Given the description of an element on the screen output the (x, y) to click on. 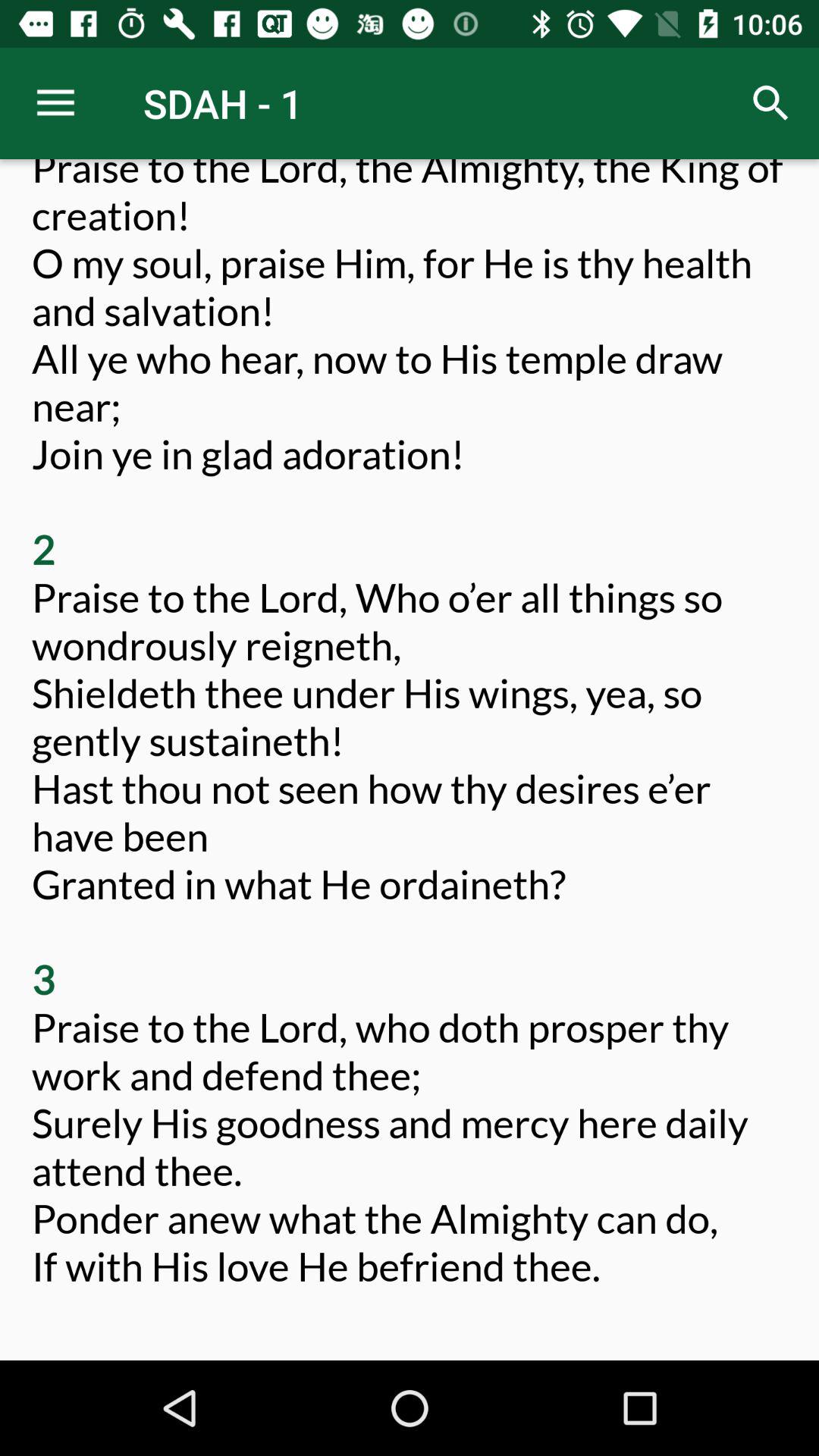
jump until the 001 praise to icon (409, 747)
